Given the description of an element on the screen output the (x, y) to click on. 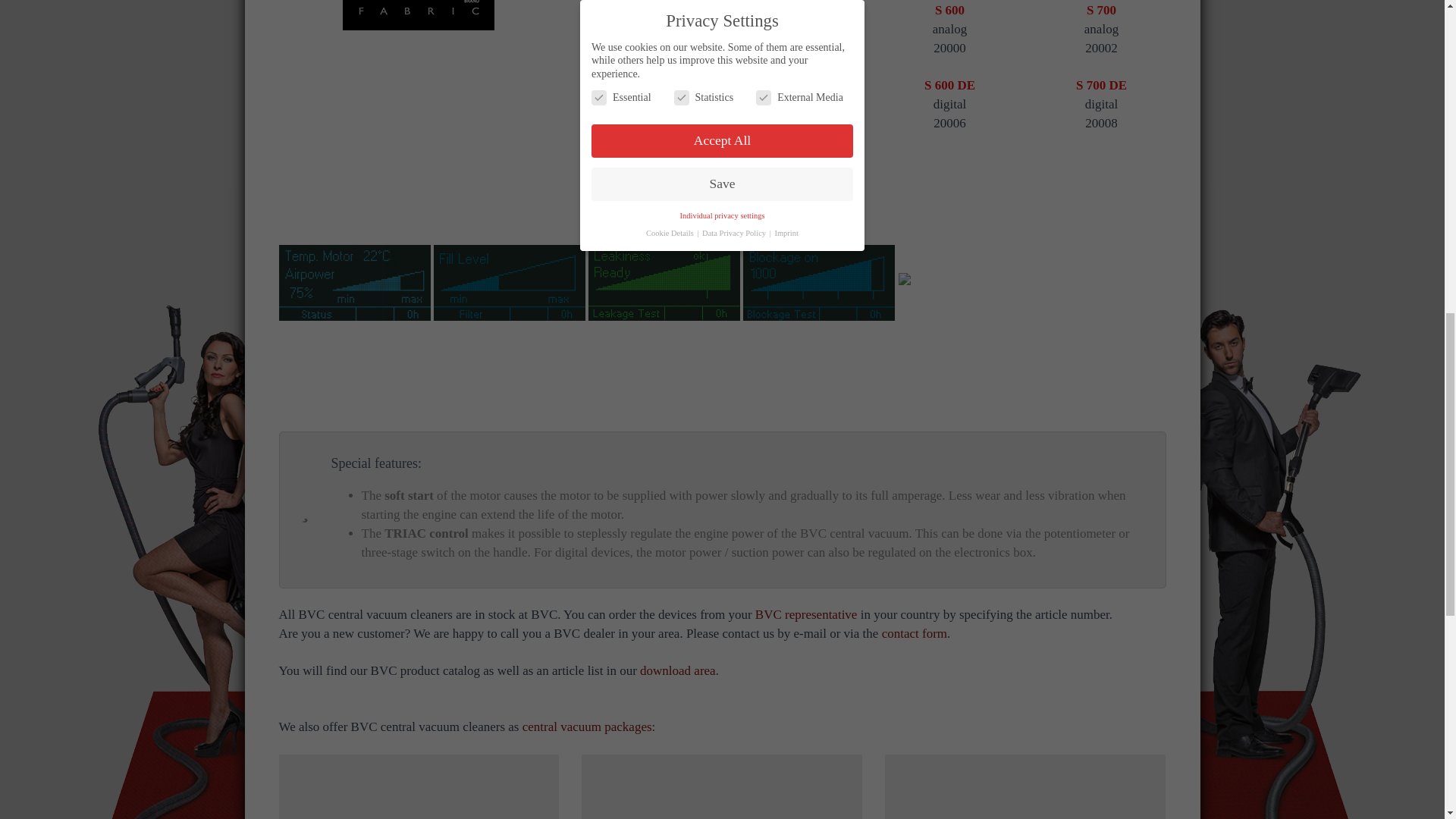
BVC BLACKLINE 9 (721, 789)
BVC BLACKLINE 5 (663, 282)
BVC BLACKLINE 6 (818, 282)
BVC BLACKLINE 4 (509, 282)
BVC BLACKLINE 10 (1024, 789)
BVC BLACKLINE 8 (418, 789)
BVC BLACKLINE 2 (418, 15)
BVC BLACKLINE 3 (354, 282)
BVC BLACKLINE 7 (960, 281)
